Given the description of an element on the screen output the (x, y) to click on. 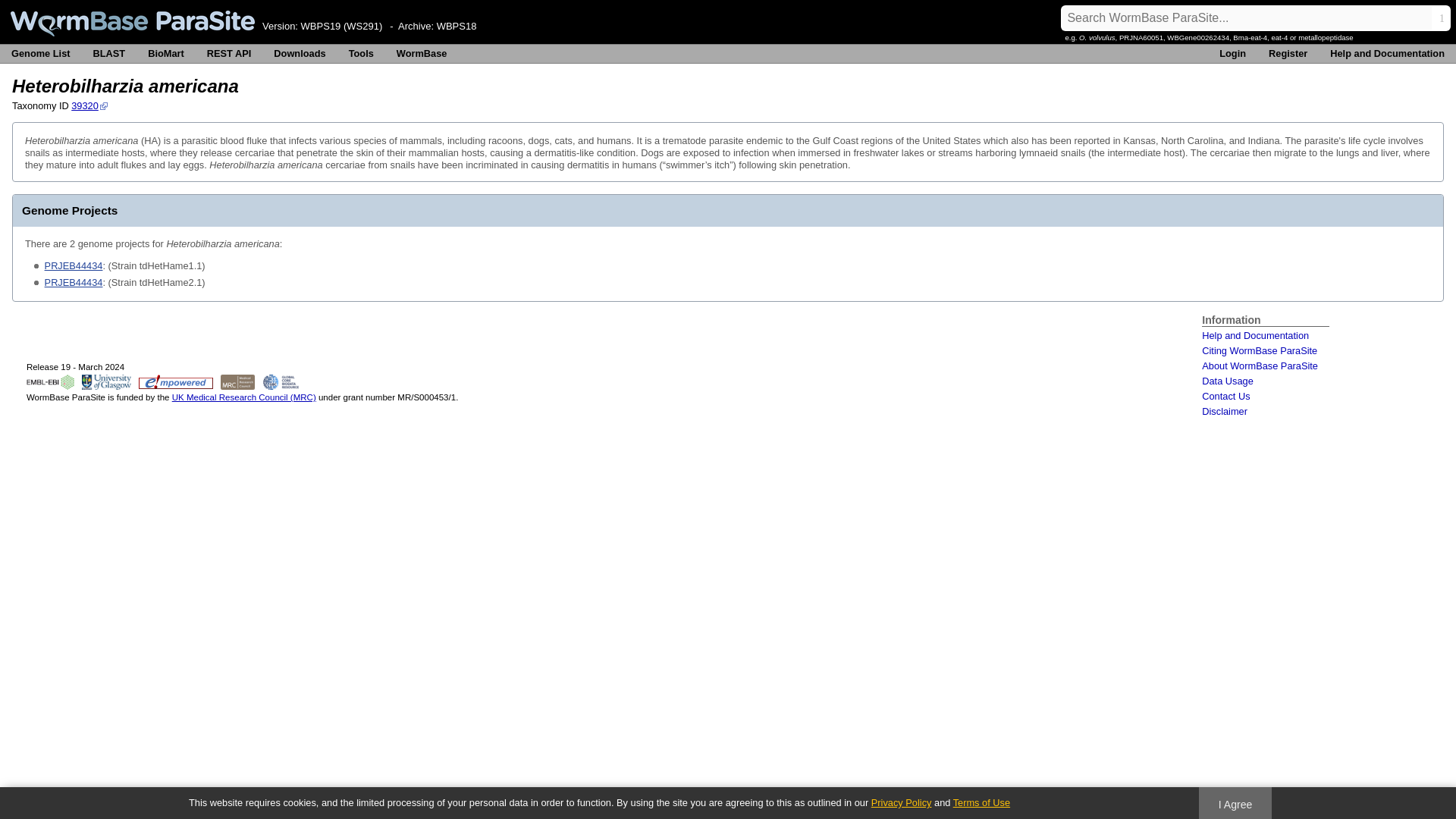
Data mining and export with BioMart (165, 54)
Downloads (299, 54)
Powered by Ensembl (175, 381)
WormBase ParaSite Home (132, 23)
Programmatic access with REST API (229, 54)
Medical Research Council (237, 381)
Disclaimer (1224, 410)
PRJEB44434 (74, 282)
Tools (361, 54)
University of Glasgow (106, 381)
WBPS18 (456, 25)
Sequence Similarity Search (108, 54)
Citing WormBase ParaSite (1259, 350)
Global Core Biodata Resources (280, 381)
BLAST (108, 54)
